Given the description of an element on the screen output the (x, y) to click on. 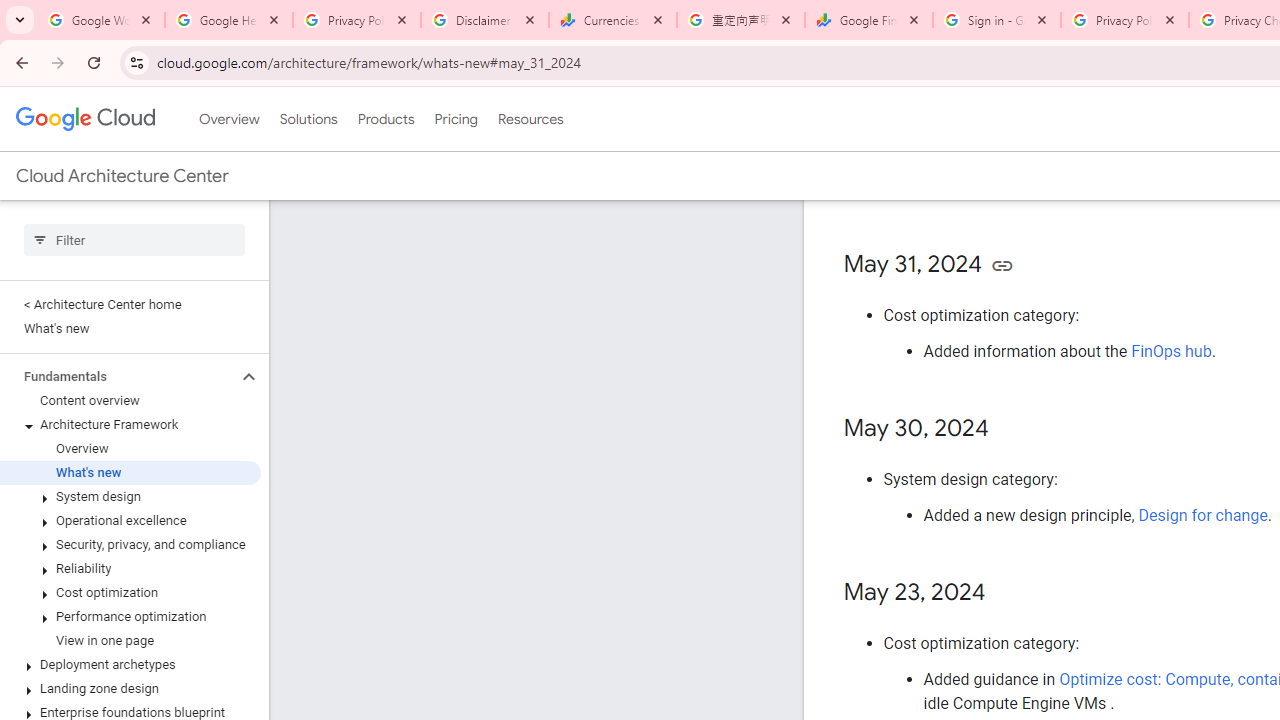
Design for change (1202, 515)
Fundamentals (118, 376)
Sign in - Google Accounts (997, 20)
< Architecture Center home (130, 304)
Cloud Architecture Center (122, 175)
Pricing (455, 119)
Cost optimization (130, 592)
Type to filter (134, 239)
Deployment archetypes (130, 664)
monitoring (1142, 127)
FinOps hub (1171, 351)
Security, privacy, and compliance (130, 544)
